Given the description of an element on the screen output the (x, y) to click on. 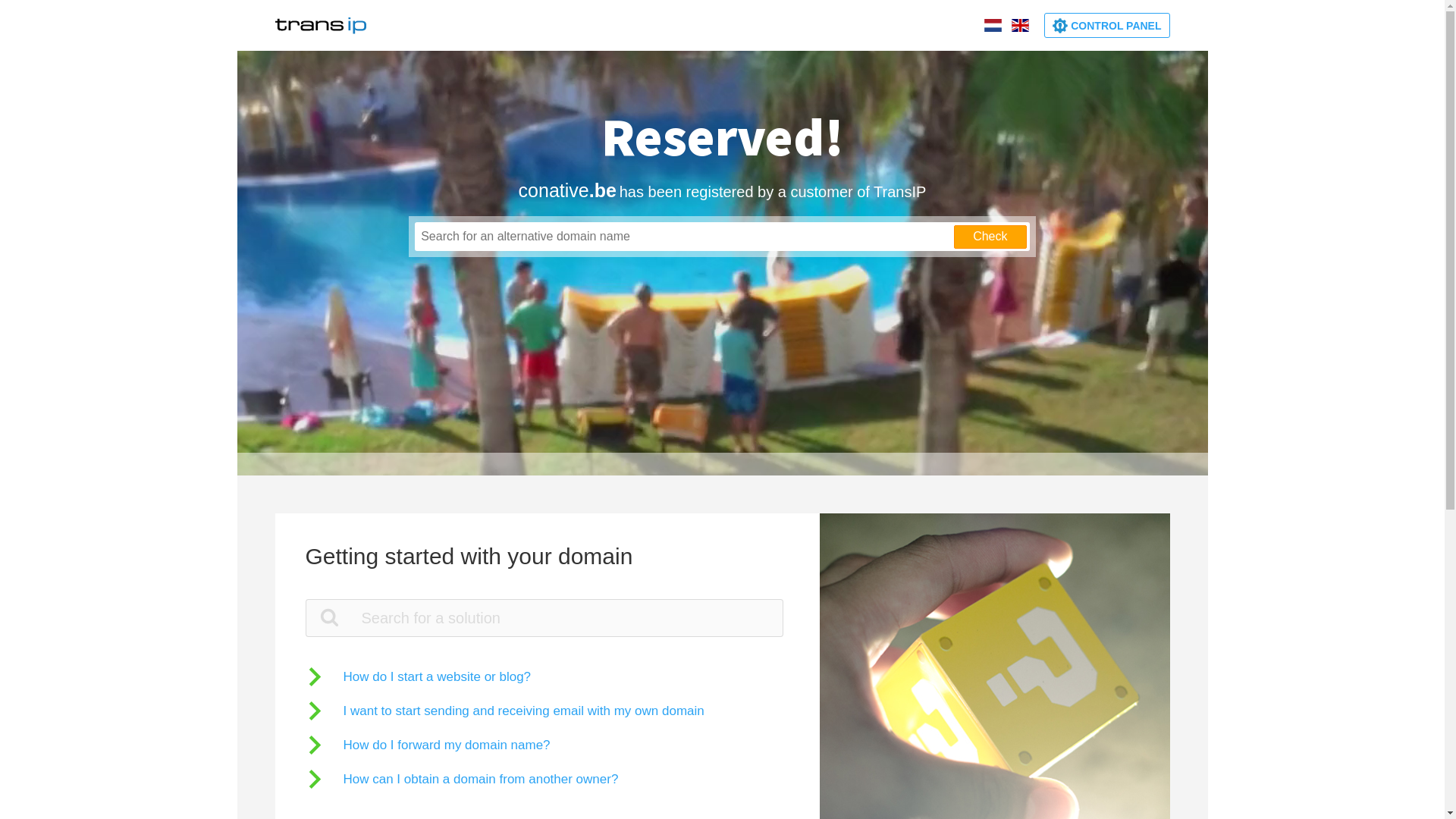
How can I obtain a domain from another owner? Element type: text (461, 778)
How do I start a website or blog? Element type: text (417, 676)
How do I forward my domain name? Element type: text (426, 744)
CONTROL PANEL Element type: text (1106, 24)
Check Element type: text (989, 236)
